Given the description of an element on the screen output the (x, y) to click on. 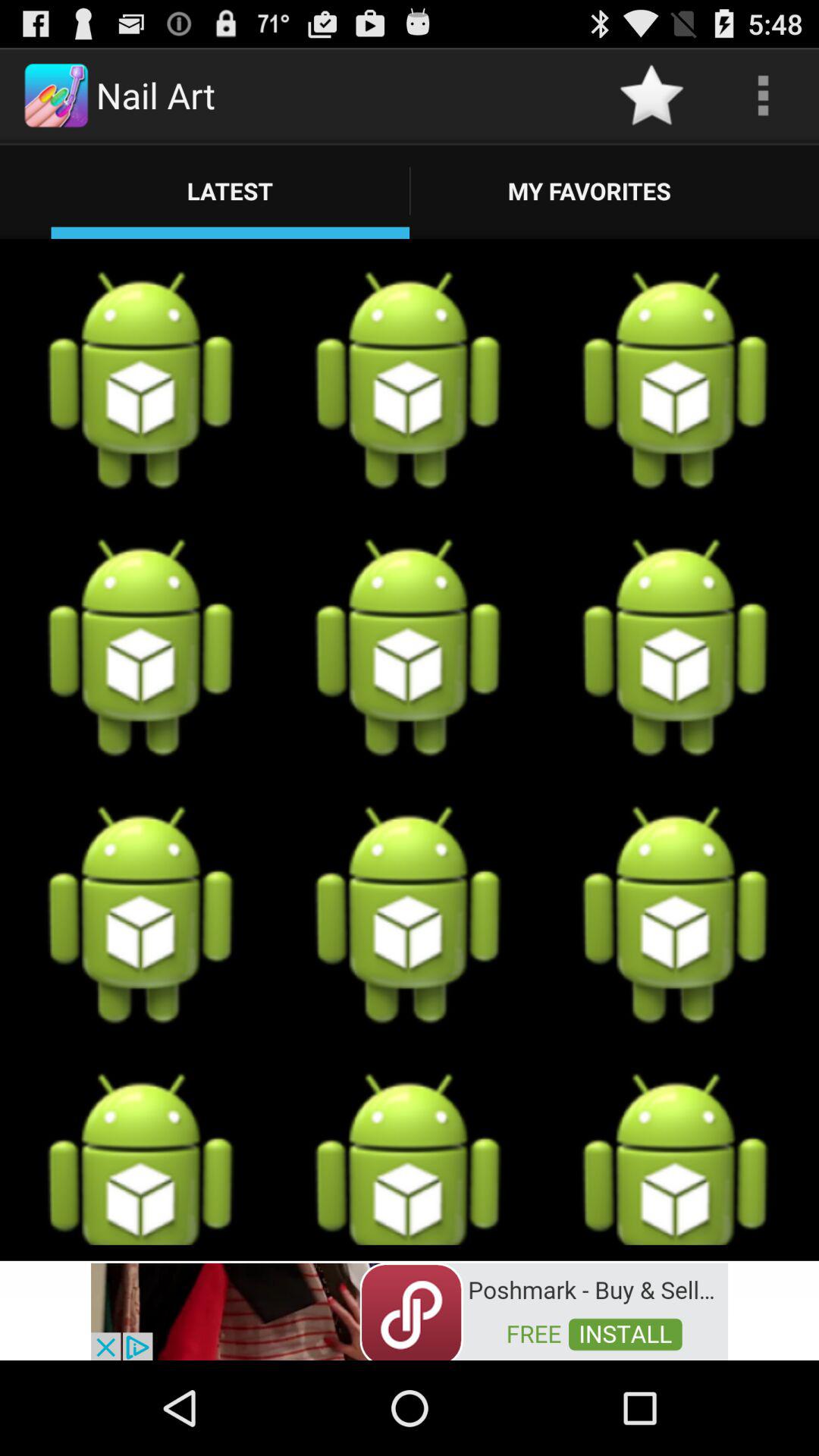
open options menu (763, 95)
